Given the description of an element on the screen output the (x, y) to click on. 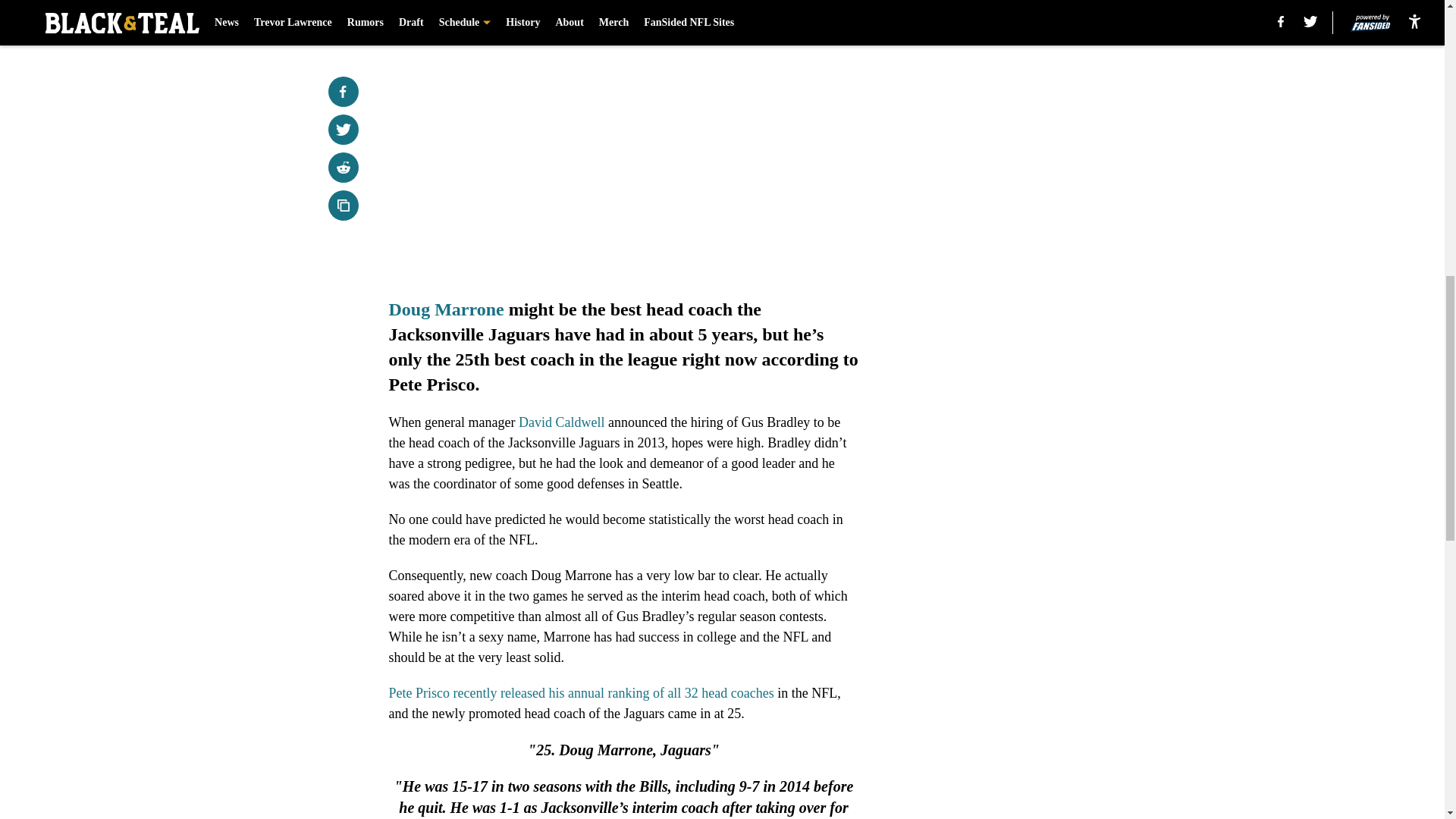
Doug Marrone (445, 309)
David Caldwell (561, 421)
